Given the description of an element on the screen output the (x, y) to click on. 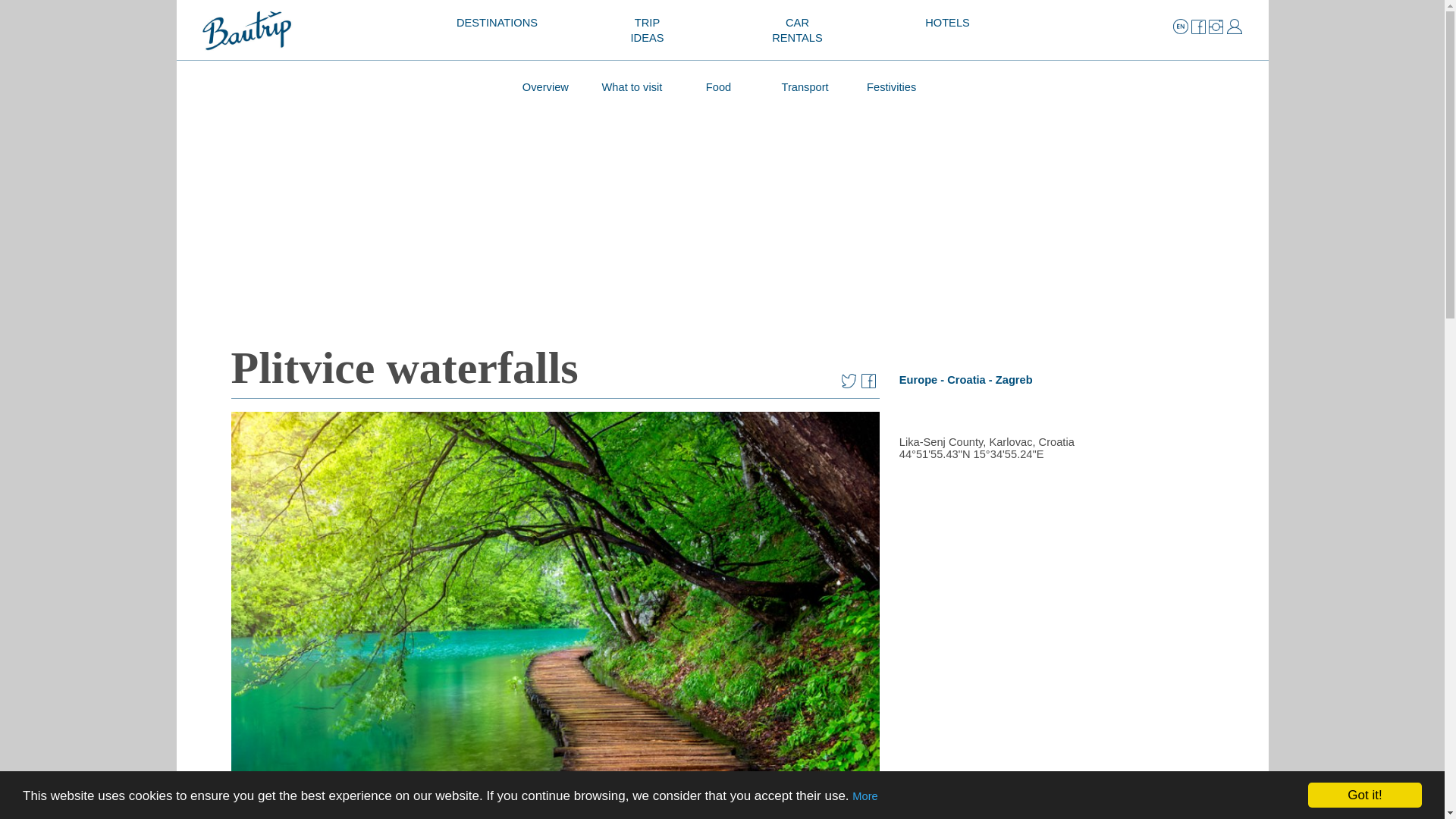
Food (719, 87)
Festivities (891, 87)
DESTINATIONS (497, 22)
What to visit (646, 30)
Transport (631, 87)
Overview (805, 87)
HOTELS (544, 87)
Zagreb (946, 22)
